Given the description of an element on the screen output the (x, y) to click on. 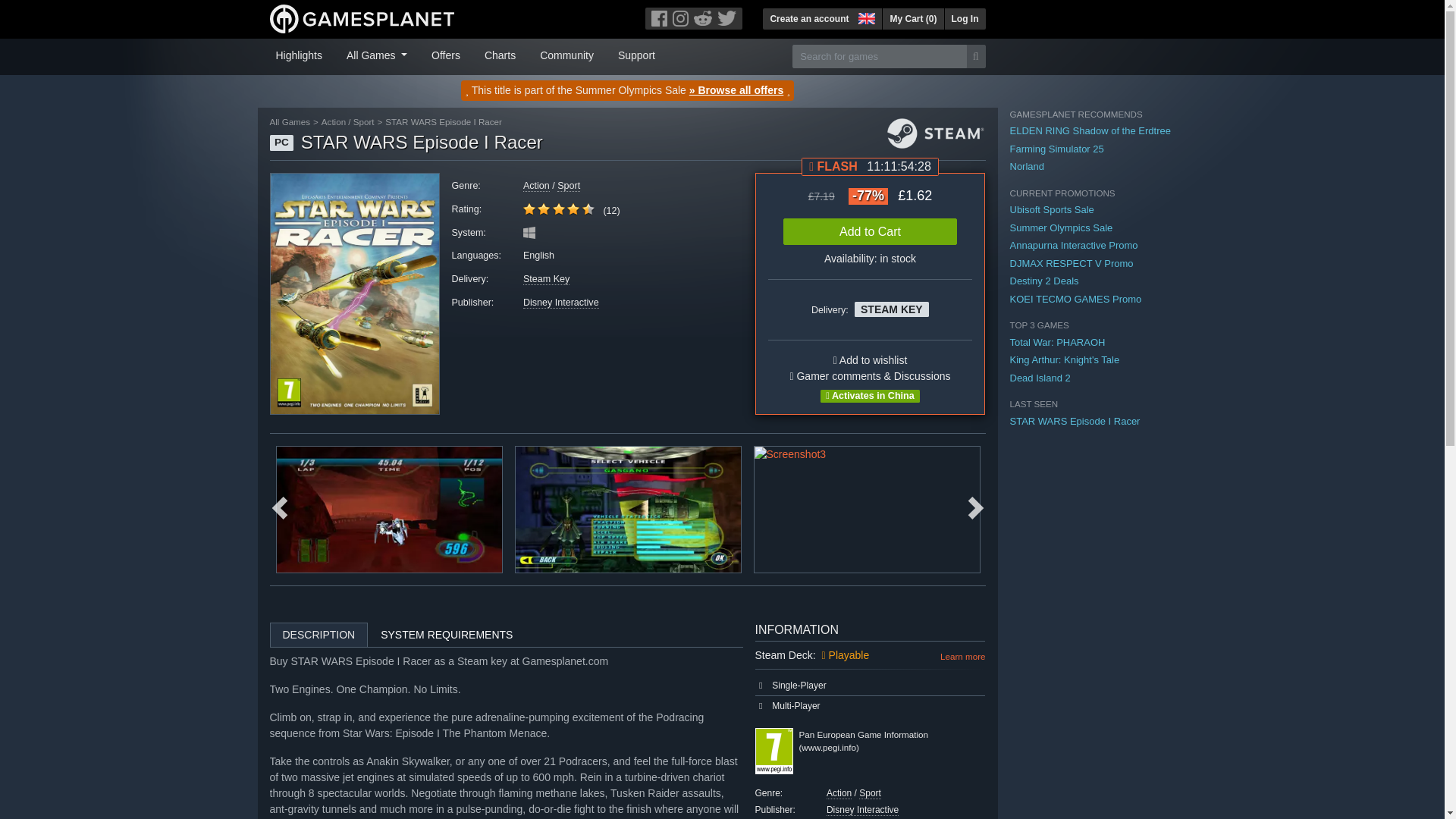
good (573, 209)
STAR WARS Episode I Racer (354, 293)
Create an account (809, 18)
Highlights (299, 53)
All Games (376, 53)
Log In (964, 18)
good (558, 209)
good (588, 209)
good (528, 209)
good (558, 208)
good (543, 209)
